Given the description of an element on the screen output the (x, y) to click on. 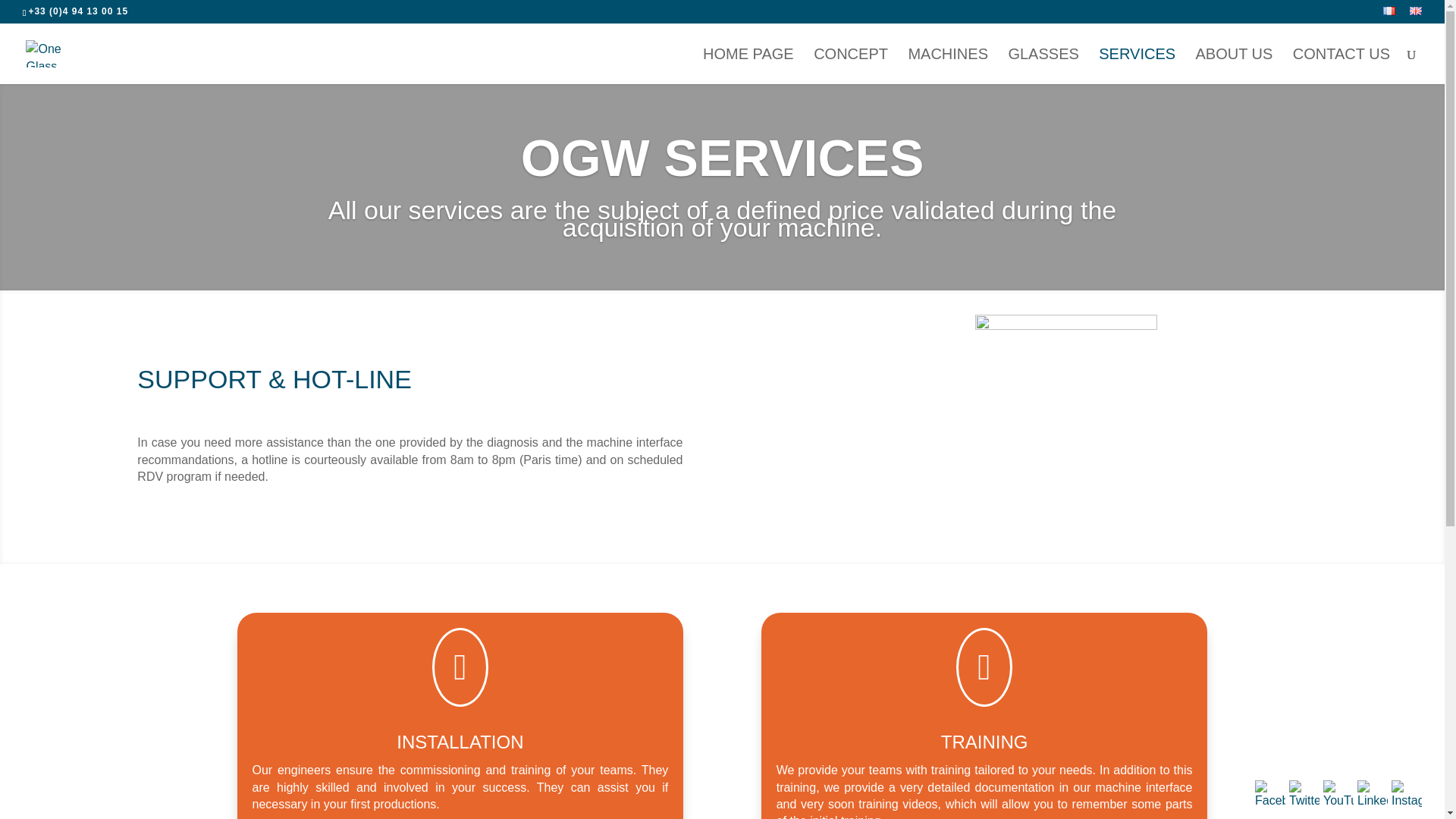
CONTACT US (1341, 66)
ABOUT US (1233, 66)
Instagram (1406, 794)
Twitter (1303, 794)
GLASSES (1042, 66)
Facebook (1270, 794)
CONCEPT (850, 66)
LinkedIn (1371, 794)
SERVICES (1136, 66)
MACHINES (947, 66)
HOME PAGE (748, 66)
YouTube (1338, 794)
